Given the description of an element on the screen output the (x, y) to click on. 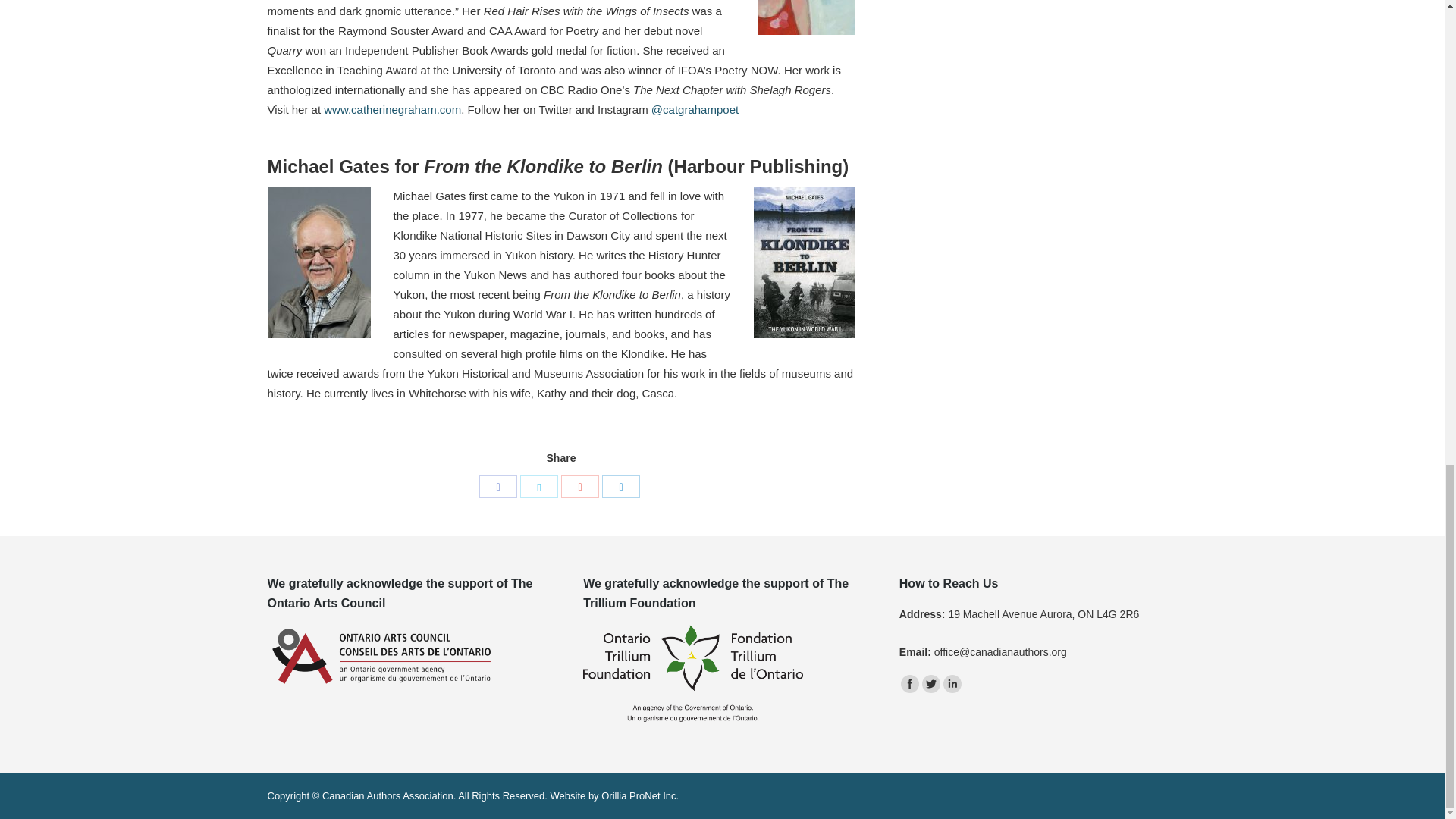
Facebook (909, 683)
Linkedin (951, 683)
LinkedIn (621, 486)
Twitter (930, 683)
Twitter (538, 486)
Facebook (497, 486)
